Given the description of an element on the screen output the (x, y) to click on. 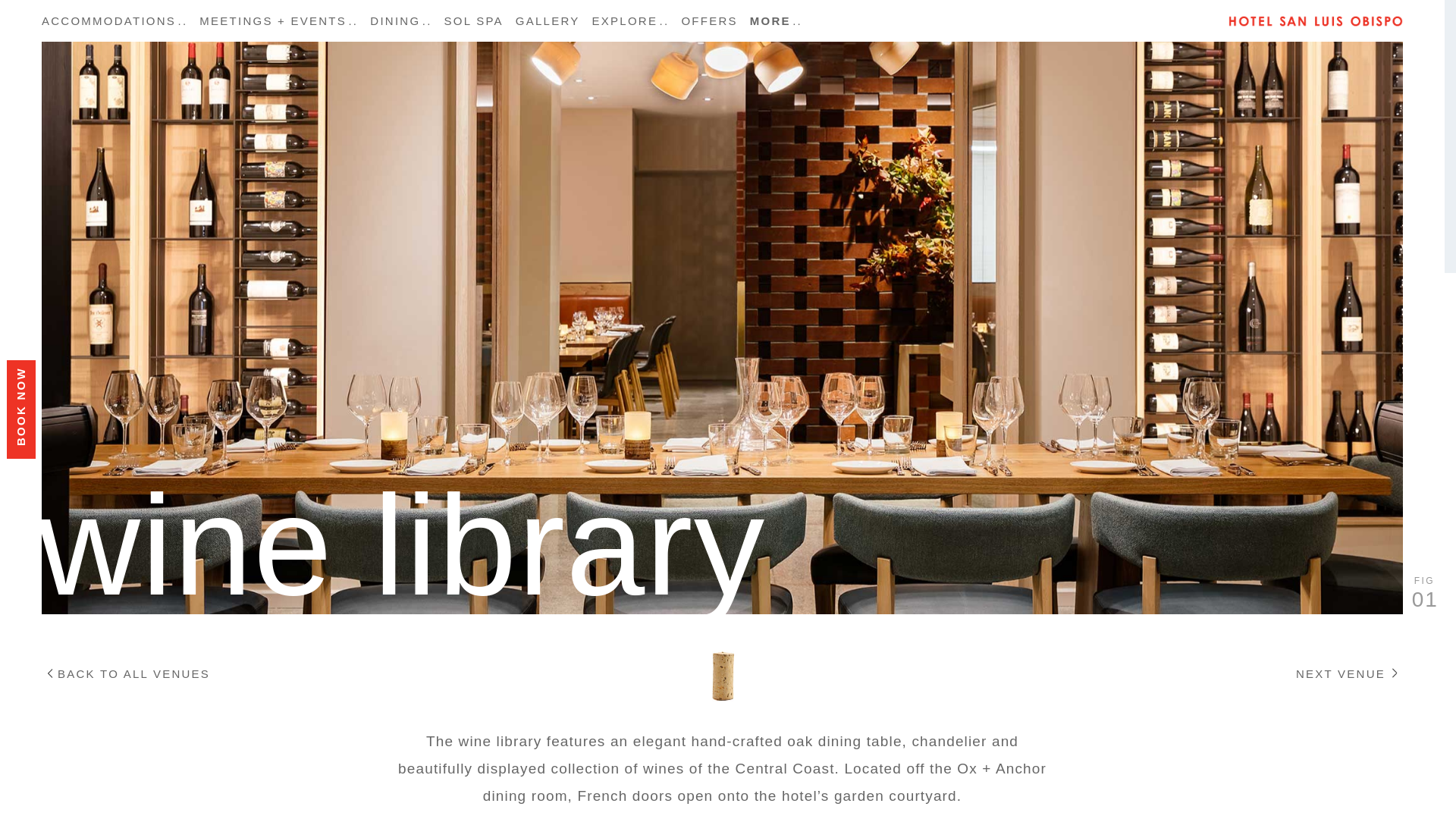
EXPLORE (630, 20)
SOL SPA (473, 20)
OFFERS (708, 20)
MORE (776, 20)
DINING (401, 20)
ACCOMMODATIONS (117, 20)
GALLERY (547, 20)
